Given the description of an element on the screen output the (x, y) to click on. 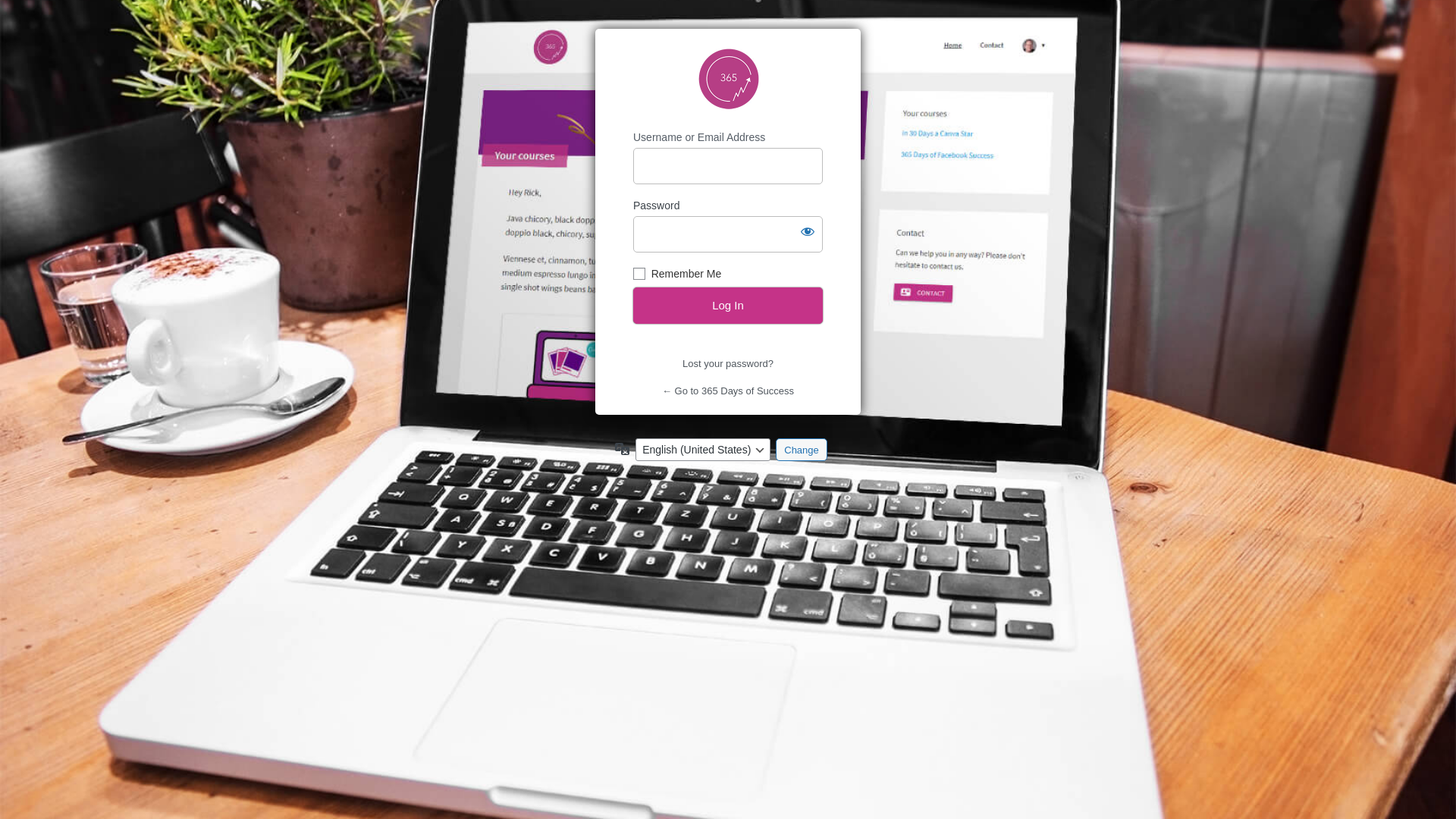
https://members.365daysofsuccess.com Element type: text (728, 79)
Log In Element type: text (727, 305)
Lost your password? Element type: text (727, 363)
Change Element type: text (801, 449)
